Given the description of an element on the screen output the (x, y) to click on. 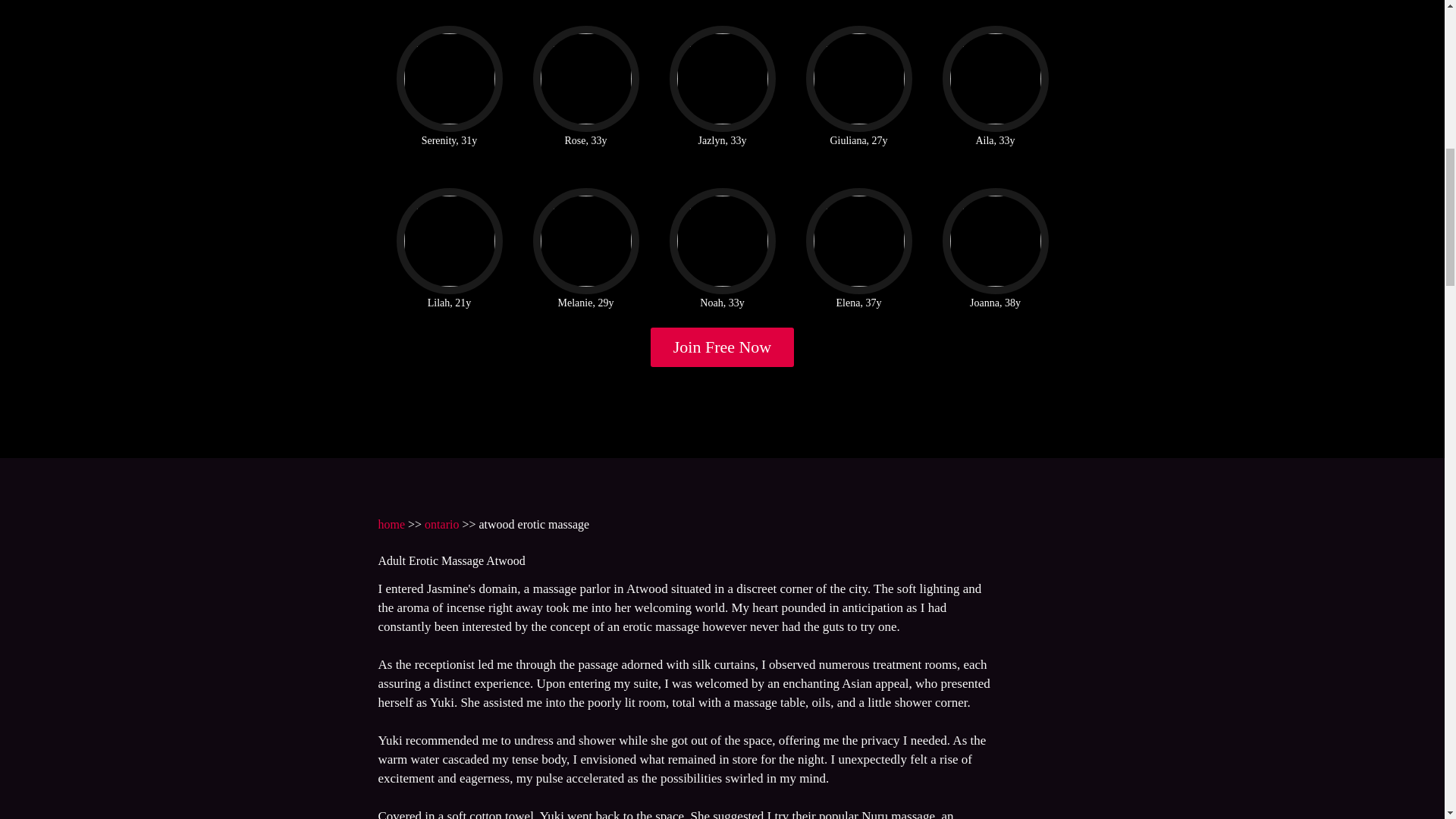
ontario (441, 523)
Join Free Now (722, 346)
Join (722, 346)
home (390, 523)
